Given the description of an element on the screen output the (x, y) to click on. 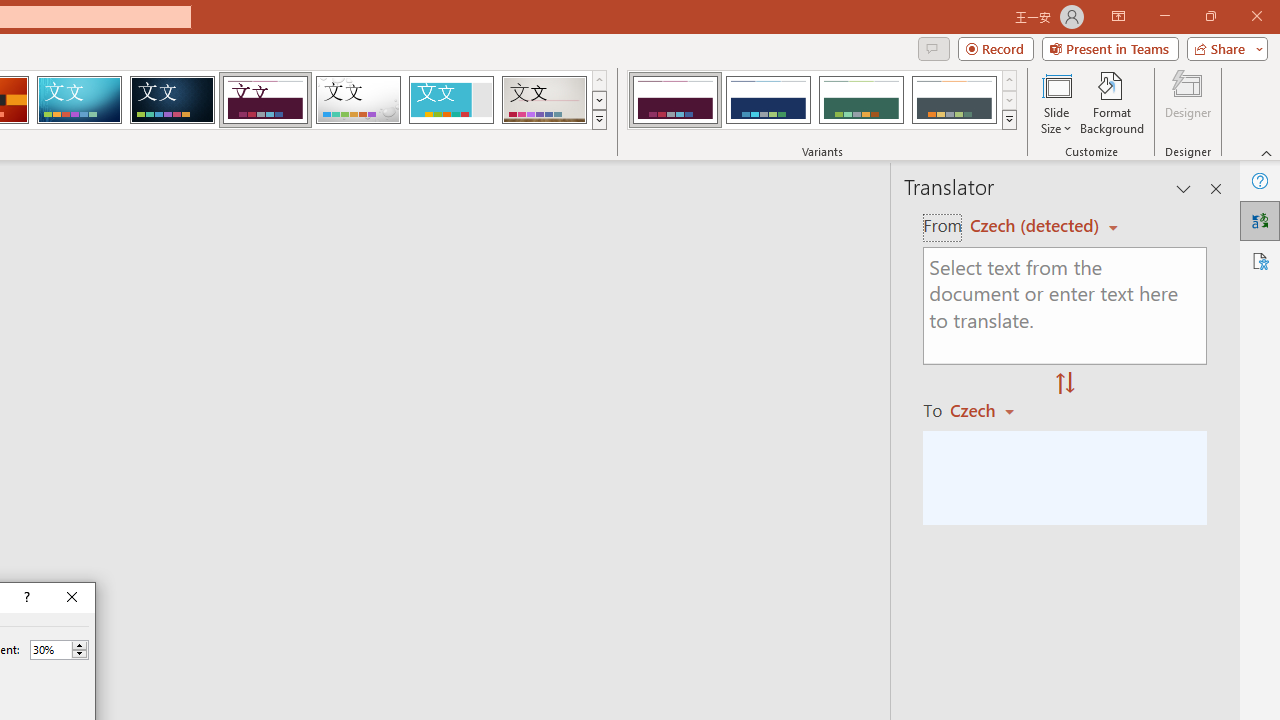
Dividend Variant 2 (768, 100)
Context help (25, 597)
Format Background (1111, 102)
Percent (59, 650)
AutomationID: ThemeVariantsGallery (822, 99)
Czech (991, 409)
Dividend (265, 100)
